Given the description of an element on the screen output the (x, y) to click on. 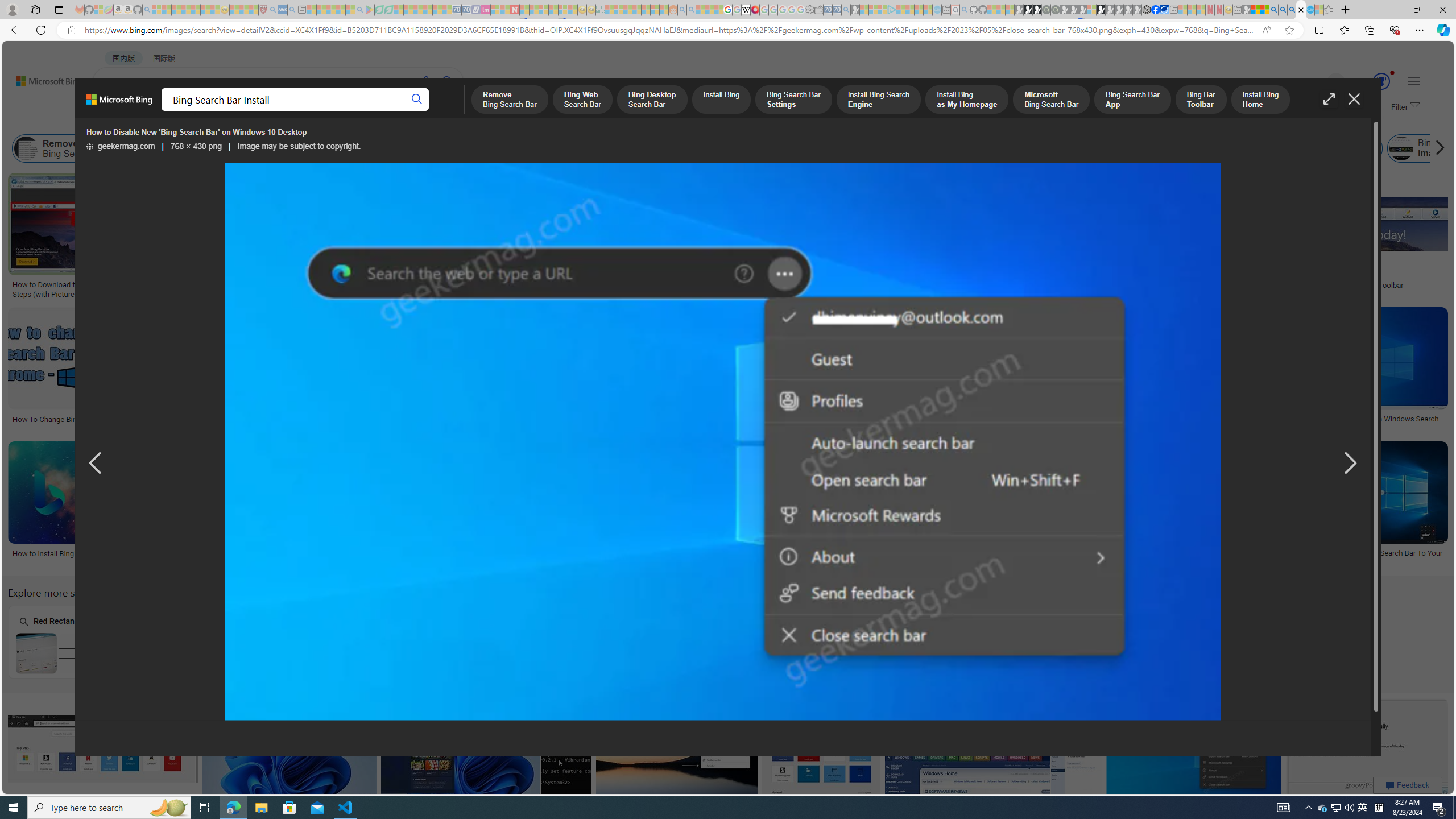
Bing Desktop Search Bar (268, 148)
Bing Search Bar Settings (470, 148)
Image may be subject to copyright. (299, 146)
